Given the description of an element on the screen output the (x, y) to click on. 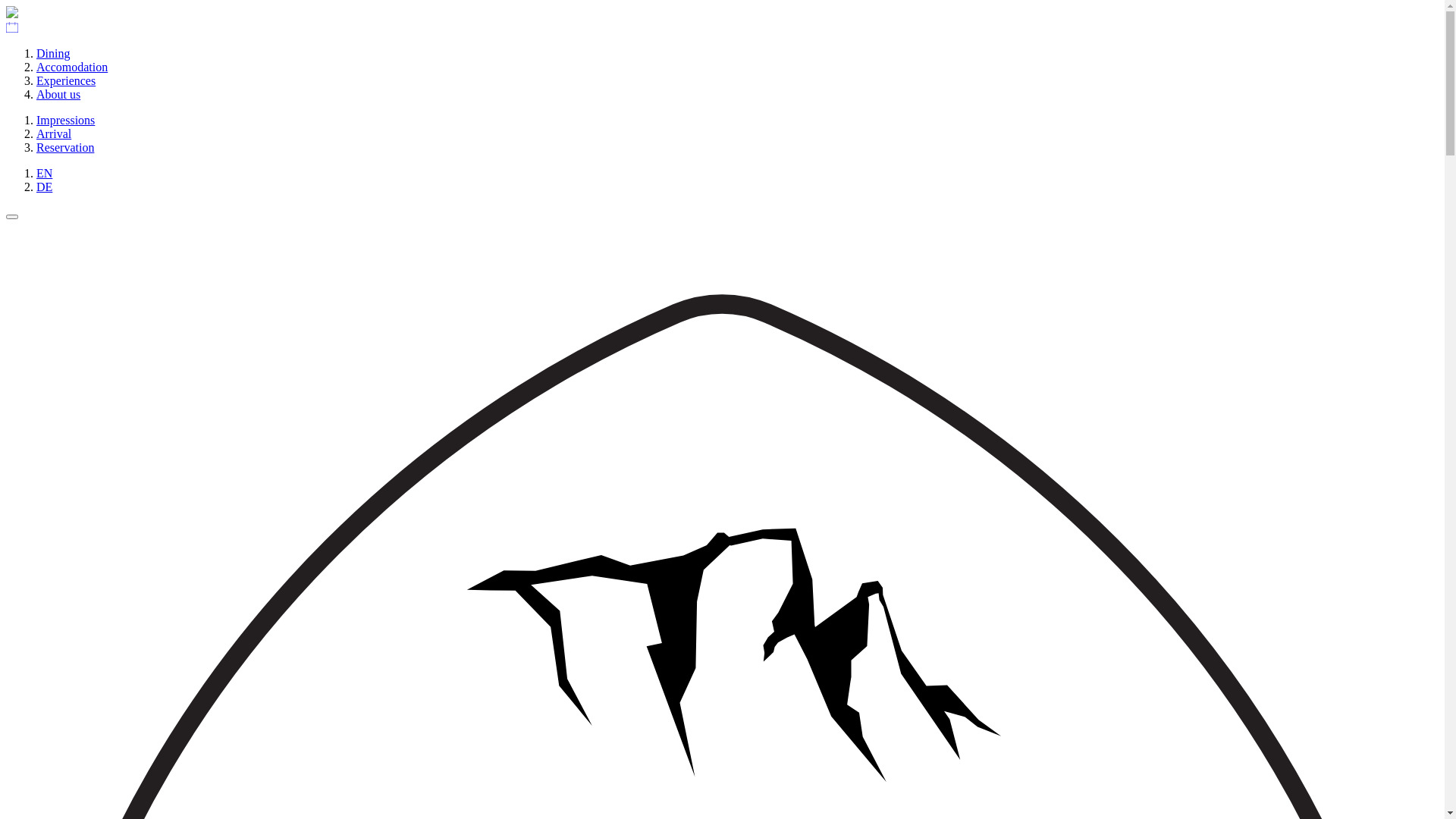
Accomodation Element type: text (71, 66)
About us Element type: text (58, 93)
Dining Element type: text (52, 53)
Arrival Element type: text (53, 133)
Impressions Element type: text (65, 119)
Experiences Element type: text (65, 80)
DE Element type: text (44, 186)
EN Element type: text (44, 172)
Reservation Element type: text (65, 147)
